Given the description of an element on the screen output the (x, y) to click on. 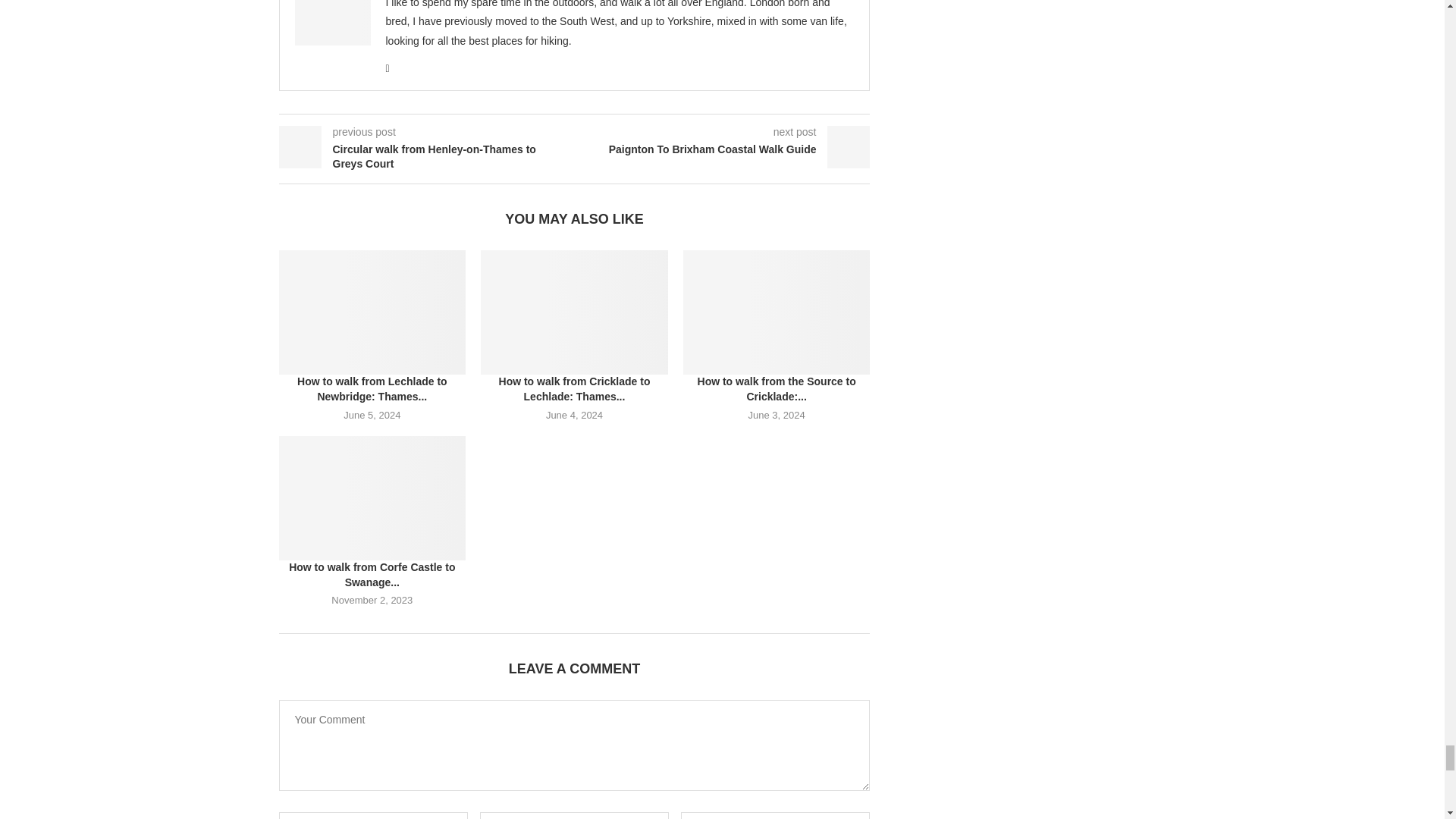
How to walk from Corfe Castle to Swanage via Ballard Down (372, 497)
How to walk from Lechlade to Newbridge: Thames Path Day 3 (372, 312)
How to walk from Cricklade to Lechlade: Thames Path day 2 (574, 312)
How to walk from the Source to Cricklade: Thames Path day 1 (776, 312)
